Given the description of an element on the screen output the (x, y) to click on. 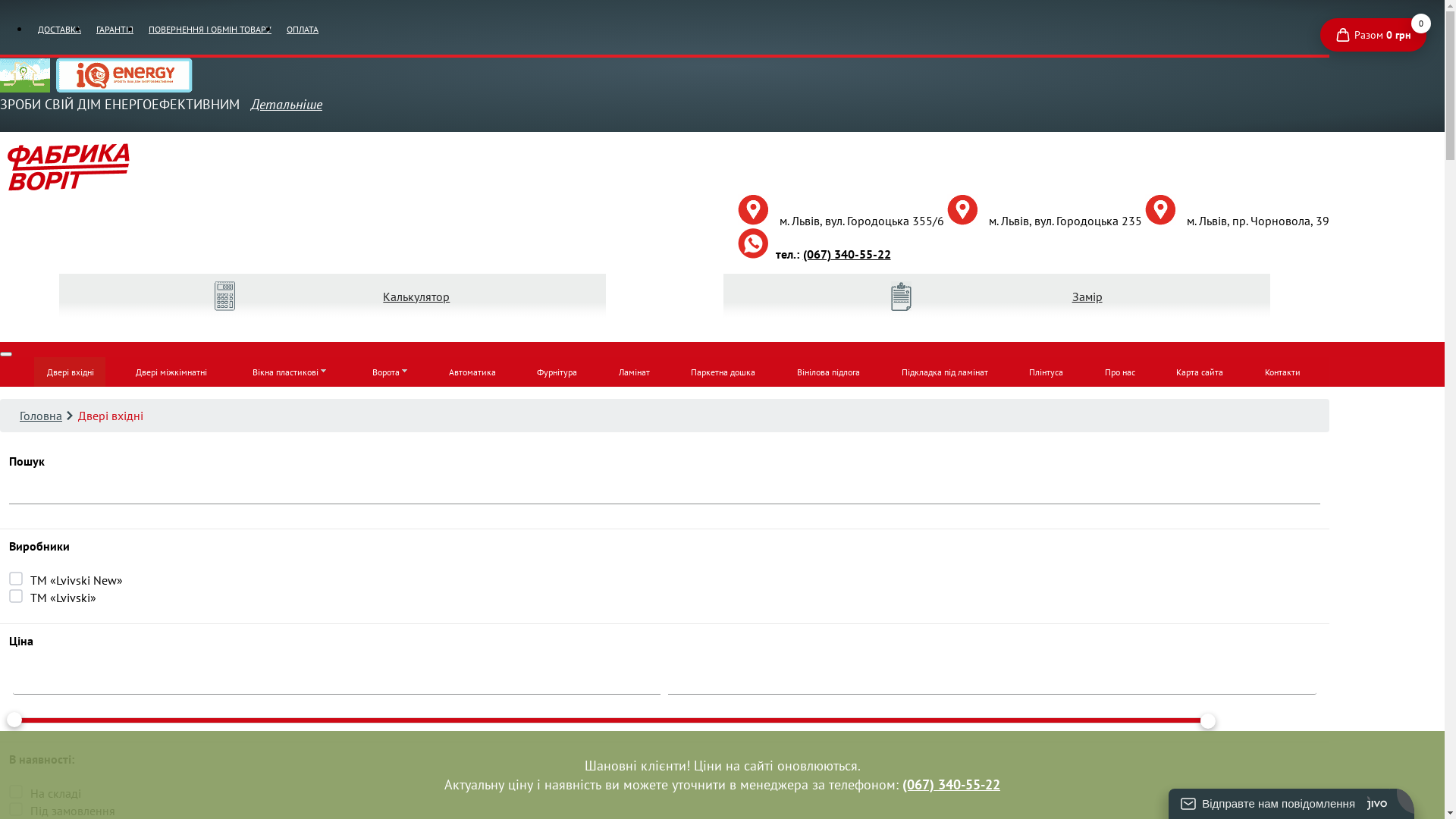
55 Element type: text (4, 4)
(067) 340-55-22 Element type: text (845, 253)
(067) 340-55-22 Element type: text (951, 784)
